Given the description of an element on the screen output the (x, y) to click on. 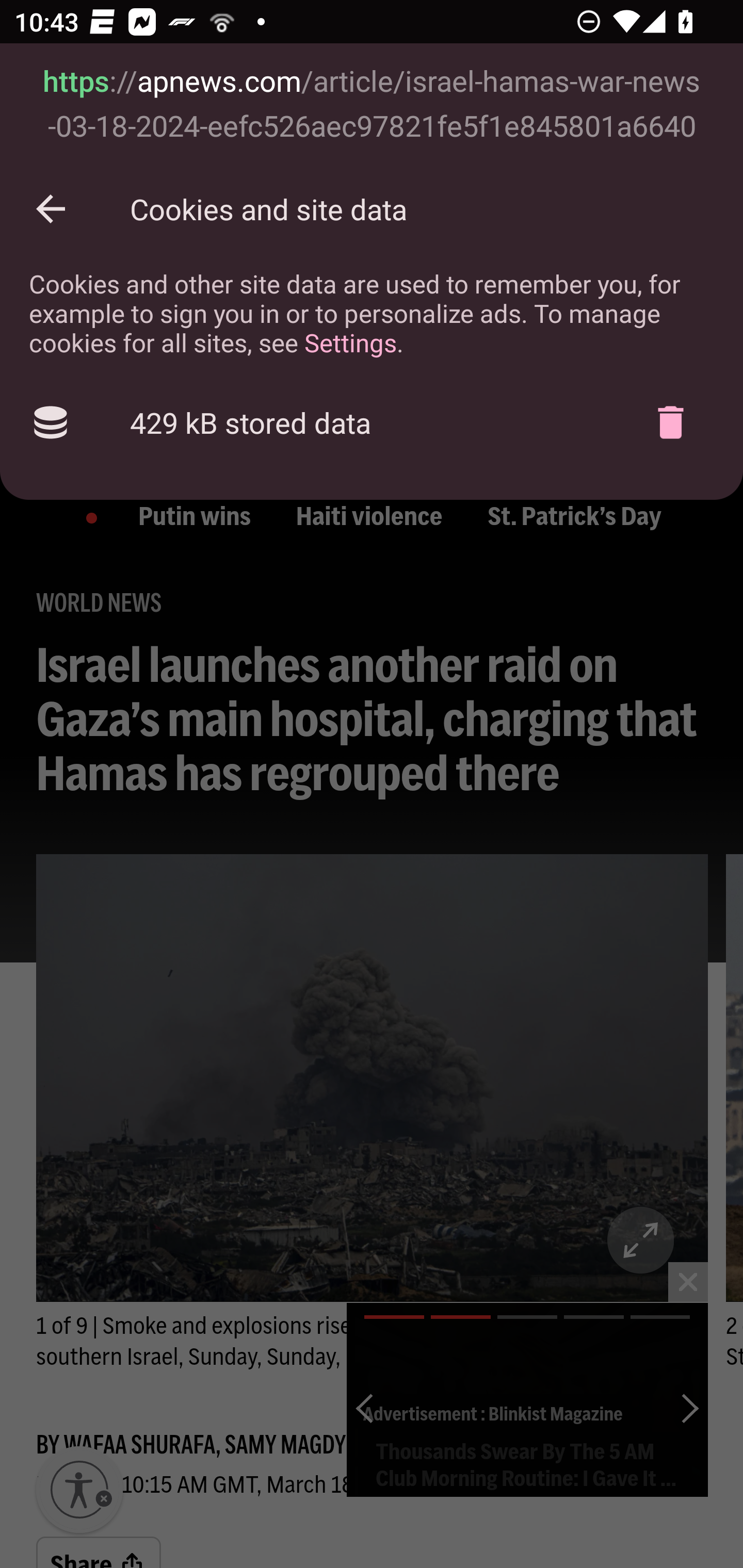
Back (50, 209)
429 kB stored data Delete cookies? (371, 421)
